Given the description of an element on the screen output the (x, y) to click on. 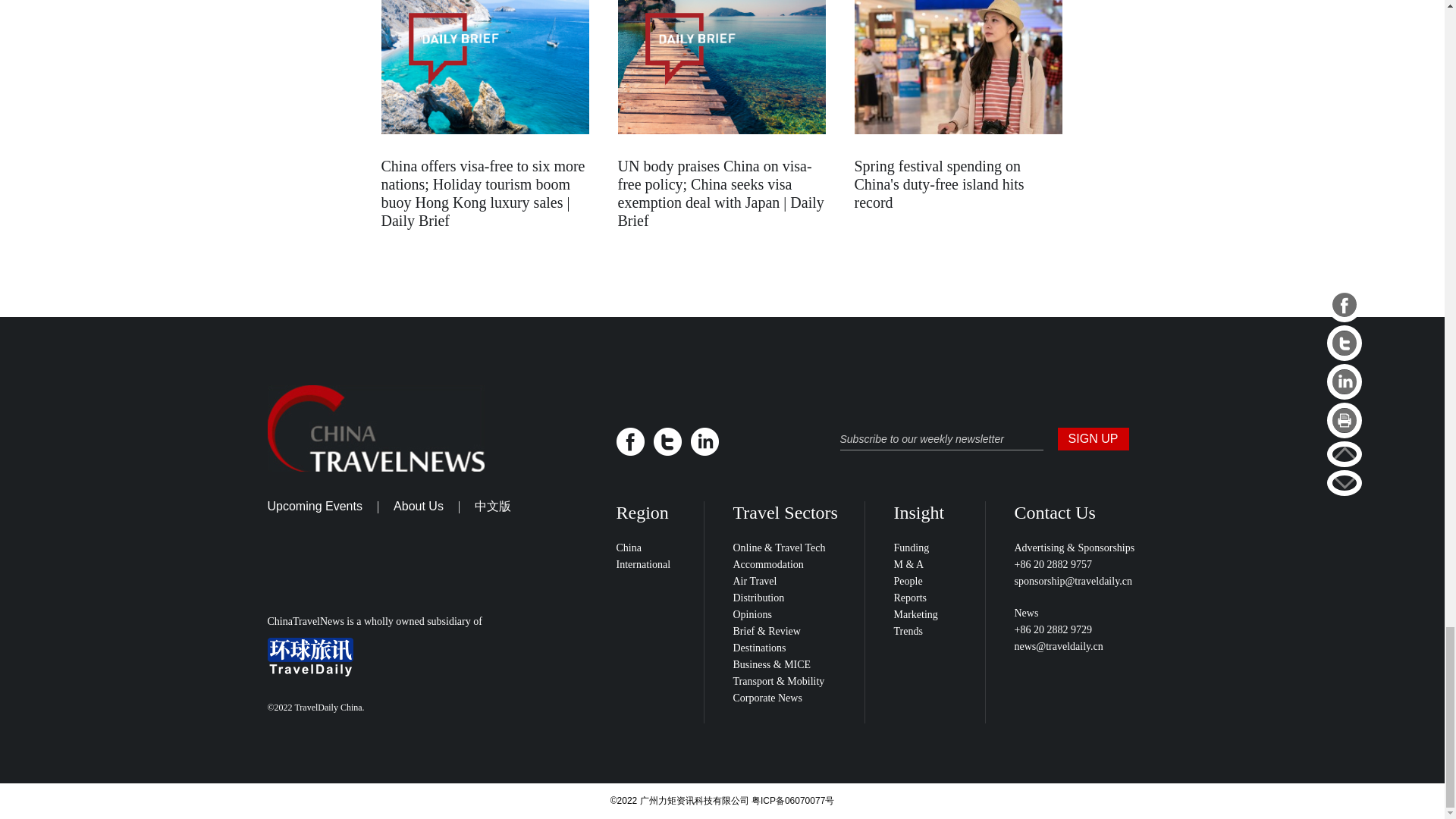
SIGN UP (1092, 438)
